Given the description of an element on the screen output the (x, y) to click on. 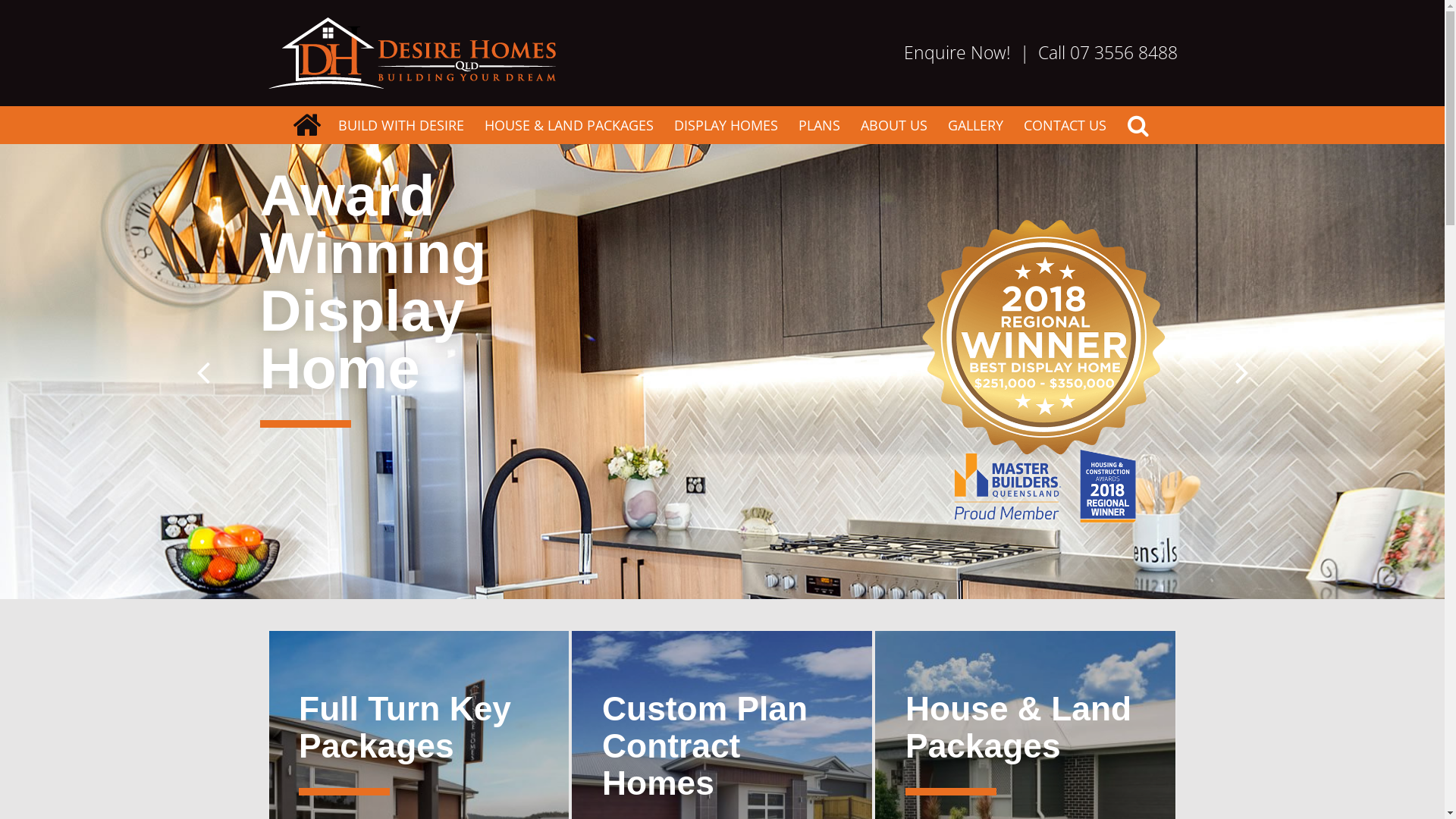
GALLERY Element type: text (975, 125)
CONTACT US Element type: text (1064, 125)
BUILD WITH DESIRE Element type: text (401, 125)
SEARCH Element type: text (1138, 125)
DESIRE HOMES Element type: text (306, 125)
Call 07 3556 8488 Element type: text (1106, 52)
PLANS Element type: text (819, 125)
Enquire Now! Element type: text (956, 52)
HOUSE & LAND PACKAGES Element type: text (568, 125)
ABOUT US Element type: text (893, 125)
DISPLAY HOMES Element type: text (726, 125)
Home Element type: text (410, 53)
